Given the description of an element on the screen output the (x, y) to click on. 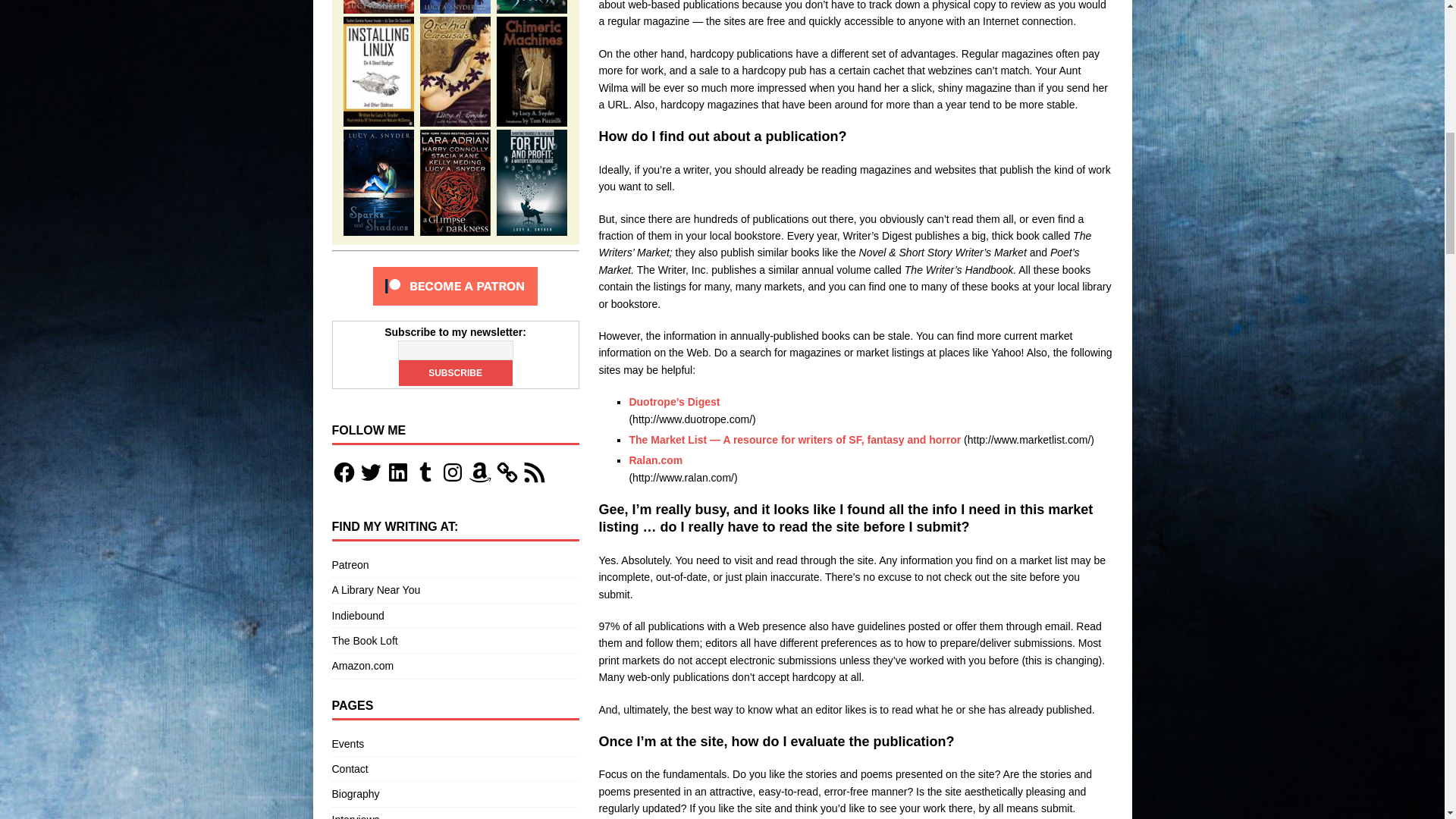
Subscribe (455, 372)
Duotrope (673, 401)
Ralan.com (655, 460)
